Given the description of an element on the screen output the (x, y) to click on. 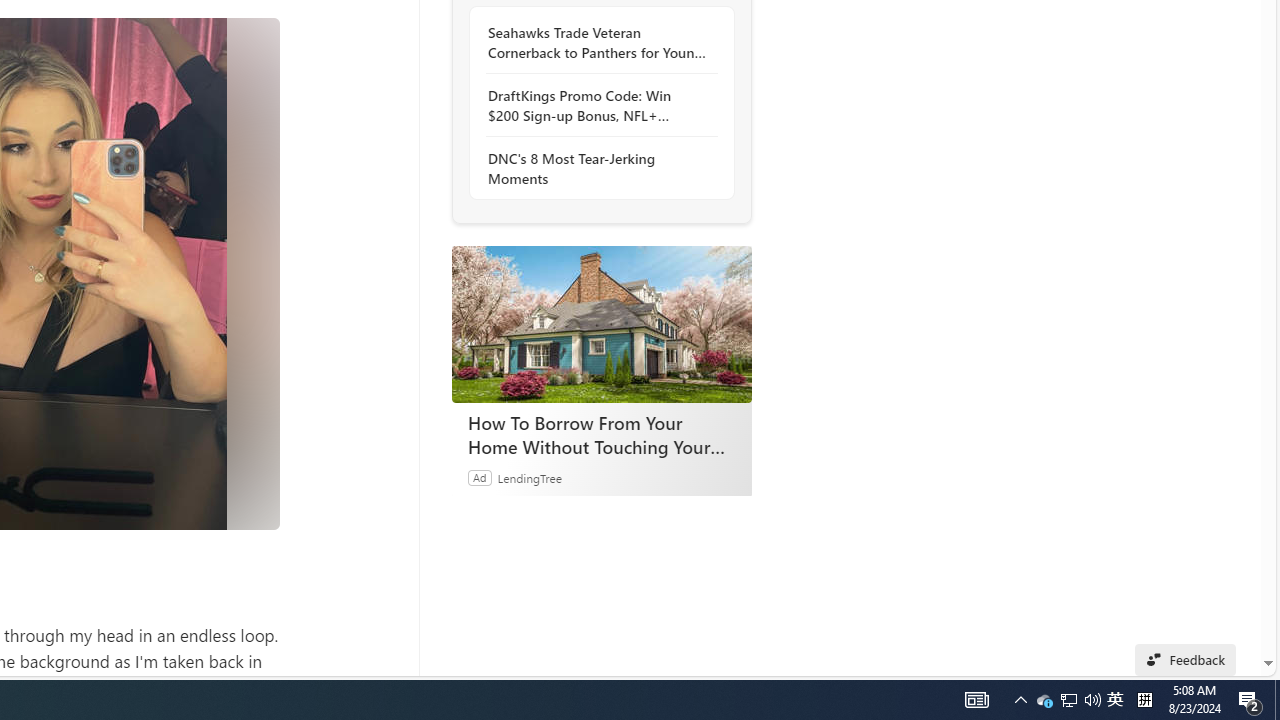
Feedback (1185, 659)
LendingTree (528, 477)
How To Borrow From Your Home Without Touching Your Mortgage (601, 435)
How To Borrow From Your Home Without Touching Your Mortgage (601, 324)
DNC's 8 Most Tear-Jerking Moments (596, 168)
